Given the description of an element on the screen output the (x, y) to click on. 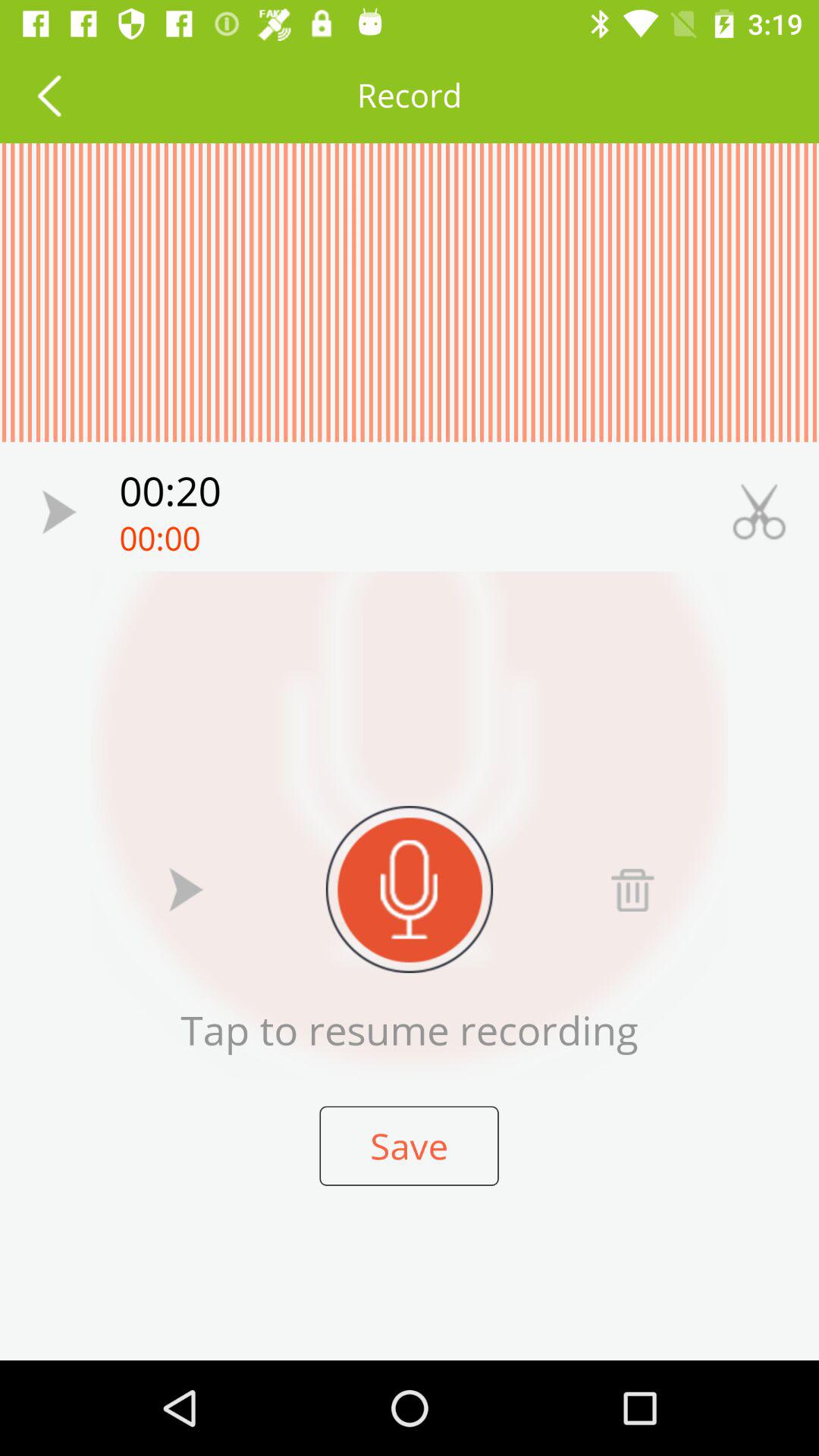
return to the previous screen (48, 95)
